Given the description of an element on the screen output the (x, y) to click on. 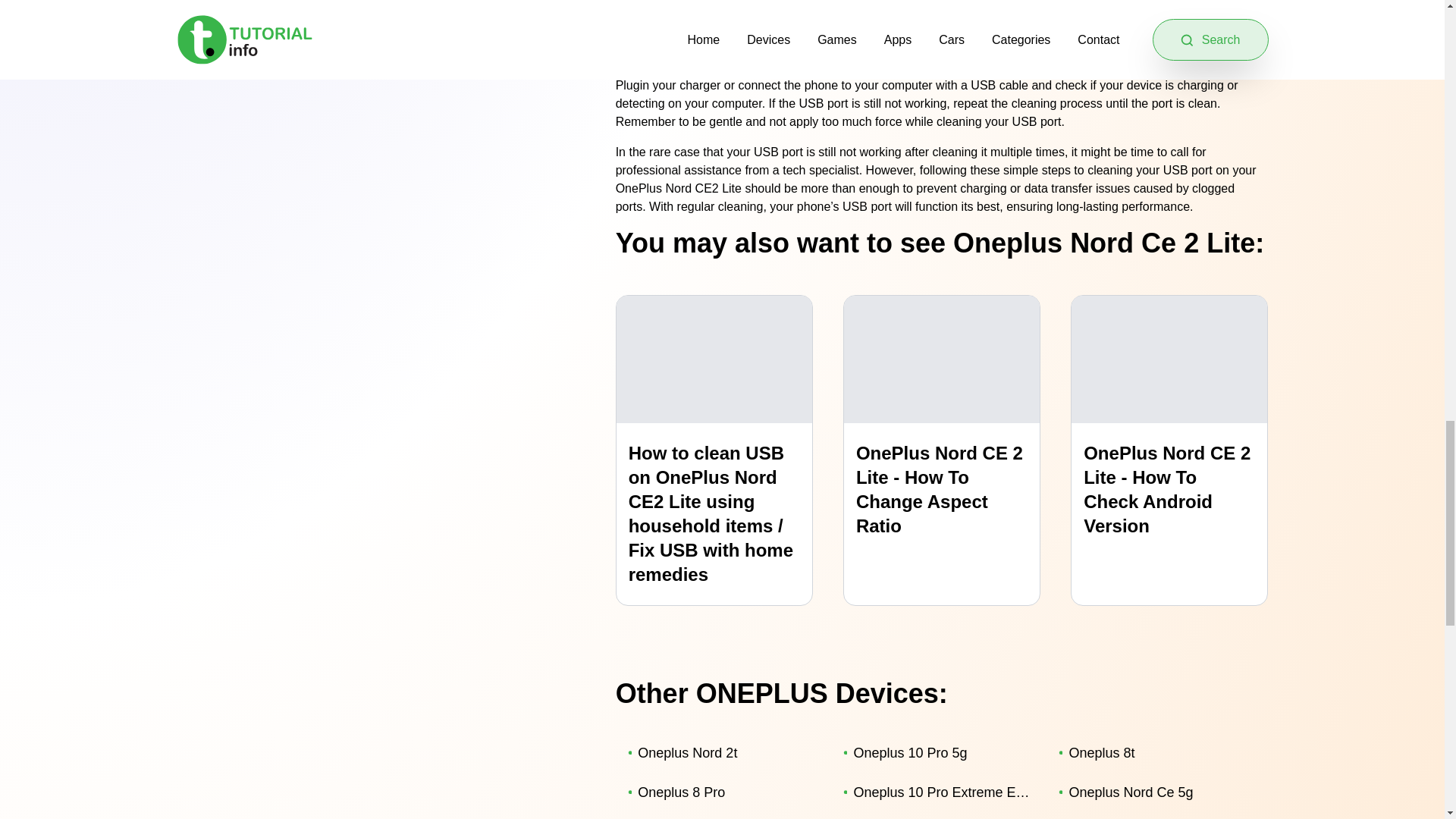
Oneplus Nord Ce 5g (1154, 792)
Oneplus 8t (1154, 753)
Oneplus Nord (1154, 815)
Oneplus 10 Pro 5g (938, 753)
Oneplus 10 Pro Extreme Edition (938, 792)
Oneplus Nord 2t (723, 753)
Oneplus Nord N100 (723, 815)
Oneplus 8 Pro (723, 792)
Oneplus 9 Pro (938, 815)
